Given the description of an element on the screen output the (x, y) to click on. 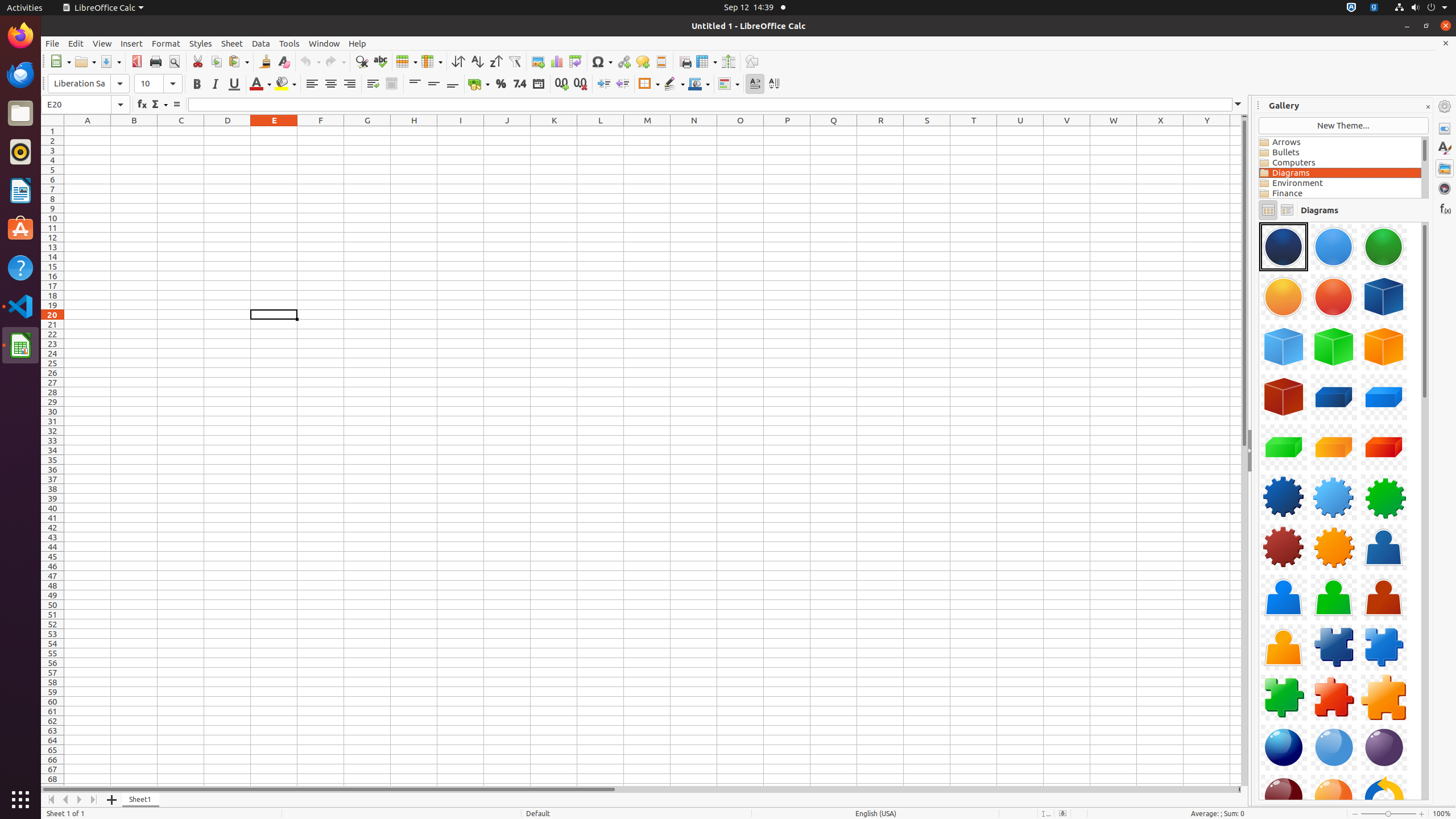
Border Color Element type: push-button (698, 83)
Ubuntu Software Element type: push-button (20, 229)
Sort Element type: push-button (457, 61)
Move Left Element type: push-button (65, 799)
I1 Element type: table-cell (460, 130)
